Given the description of an element on the screen output the (x, y) to click on. 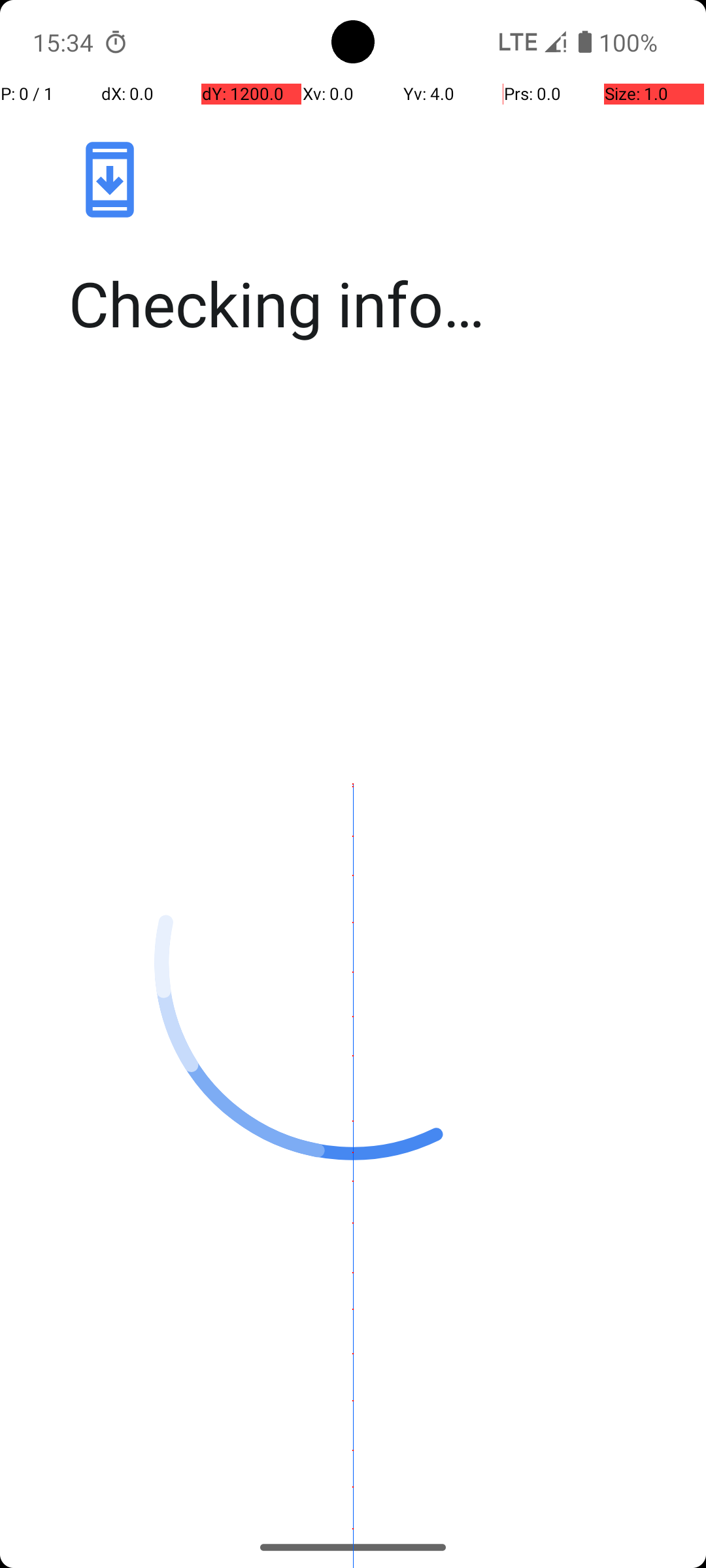
Checking info… Element type: android.widget.TextView (366, 302)
